Given the description of an element on the screen output the (x, y) to click on. 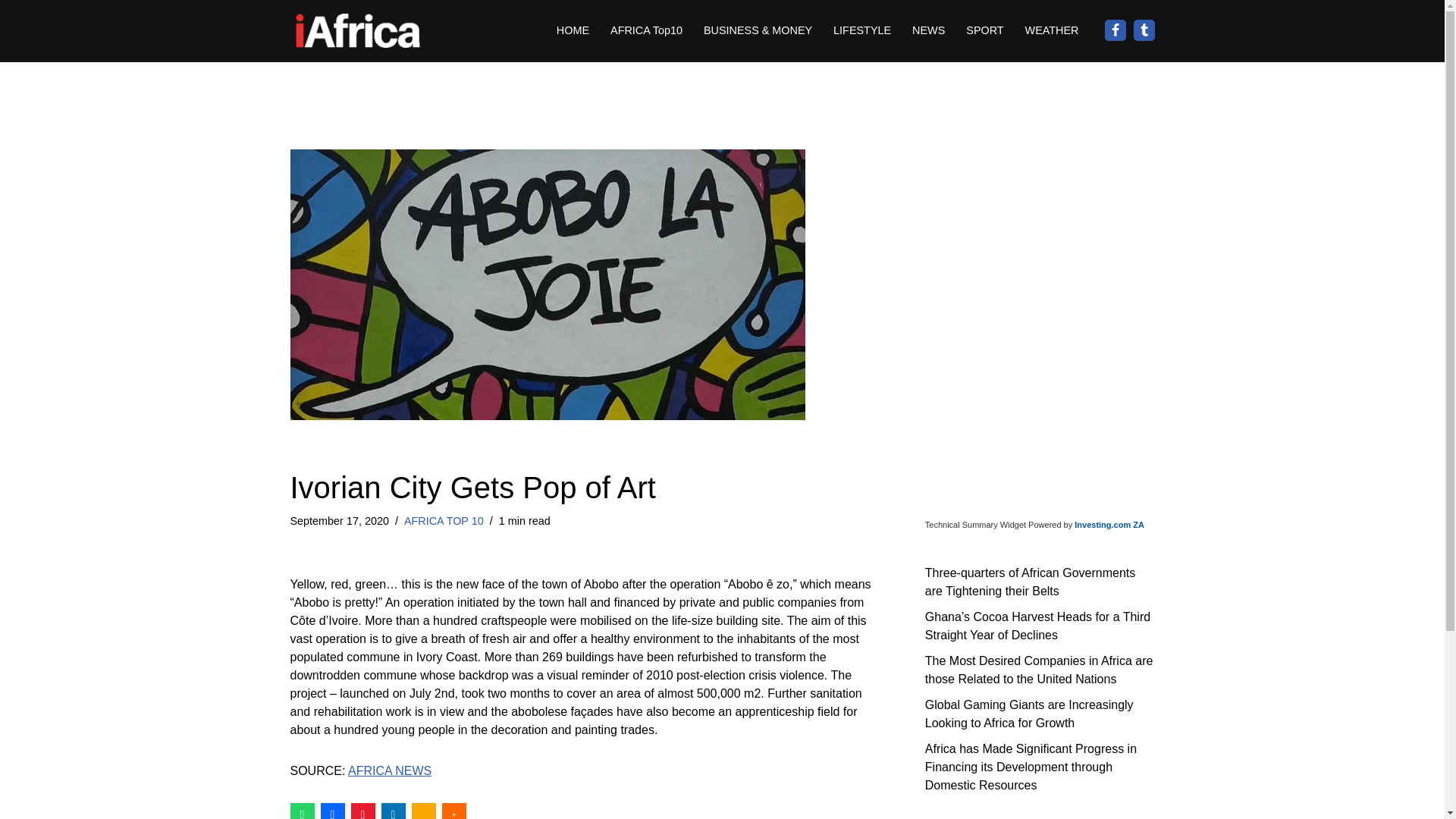
Investing.com ZA (1109, 524)
Share this on Facebook (331, 810)
WhatsApp (301, 810)
More share links (453, 810)
Convert to PDF (362, 810)
Add to favorites (422, 810)
Twitter (1143, 29)
Add this to LinkedIn (392, 810)
